Given the description of an element on the screen output the (x, y) to click on. 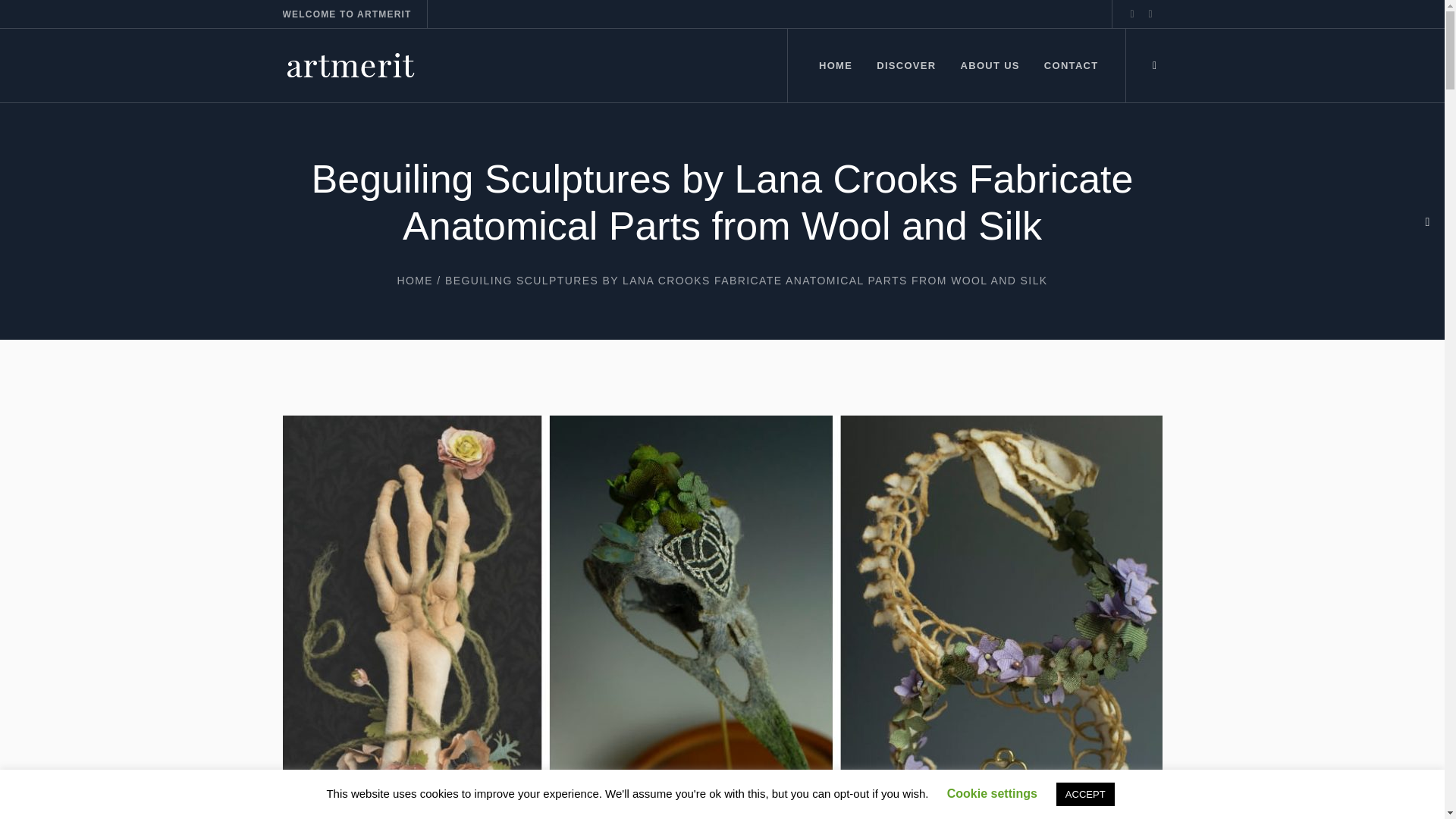
Instagram (1132, 13)
HOME (414, 280)
ABOUT US (989, 65)
CONTACT (1070, 65)
Pinterest (1149, 13)
DISCOVER (905, 65)
